Given the description of an element on the screen output the (x, y) to click on. 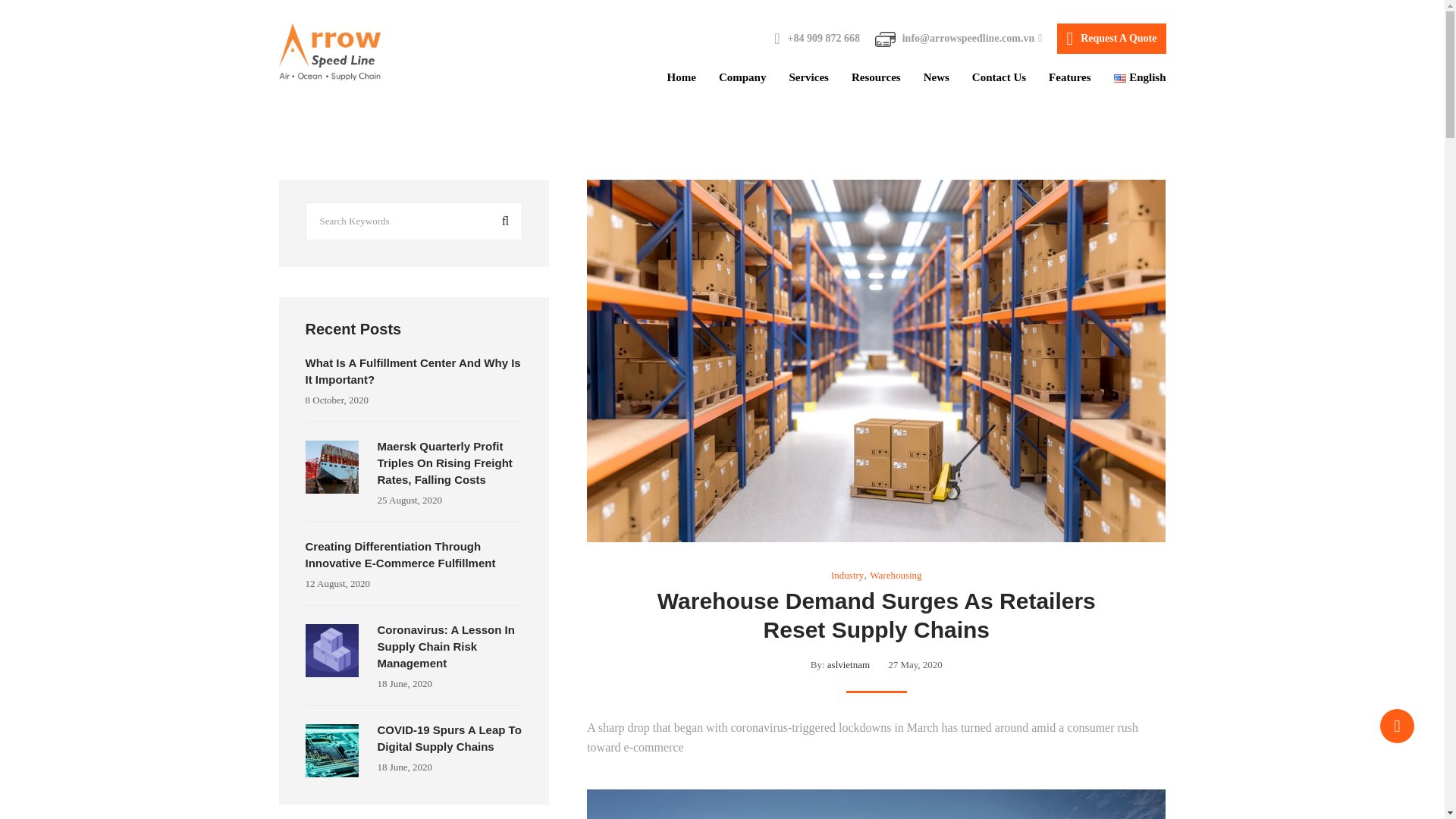
Resources (876, 77)
English (1119, 78)
English (1139, 77)
Request A Quote (1111, 38)
Contact Us (999, 77)
Posts by aslvietnam (848, 664)
What is a fulfillment center and why is it important? (411, 370)
Warehousing (895, 574)
Company (743, 77)
Warehouse Demand Surges As Retailers Reset Supply Chains (877, 615)
Industry (847, 574)
Arrow Speed Line (329, 51)
